Given the description of an element on the screen output the (x, y) to click on. 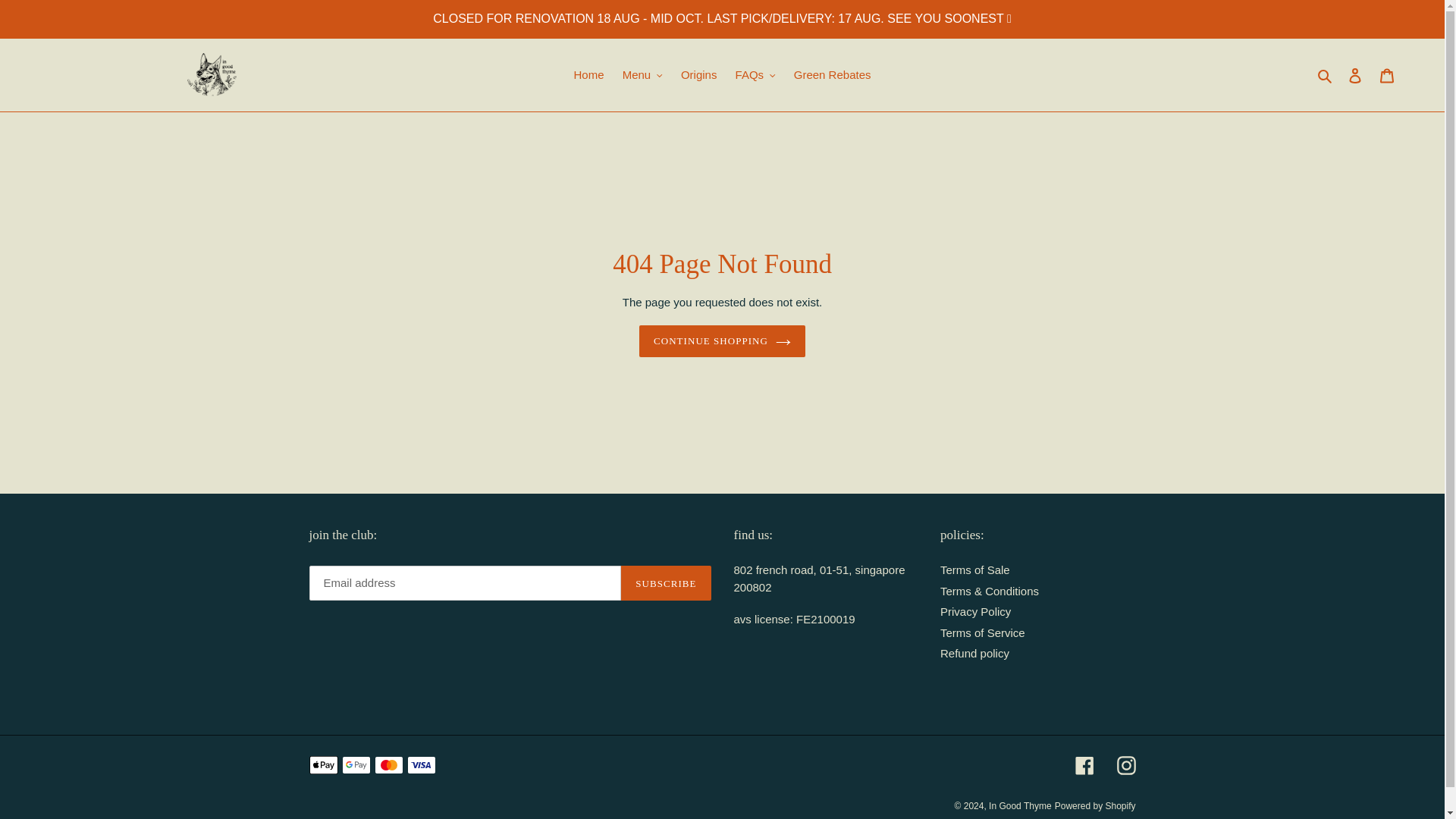
Origins (698, 75)
Instagram (1125, 764)
Terms of Service (982, 632)
Refund policy (974, 653)
In Good Thyme (1019, 805)
FAQs (755, 75)
Facebook (1084, 764)
Menu (641, 75)
Log in (1355, 74)
SUBSCRIBE (665, 582)
